Given the description of an element on the screen output the (x, y) to click on. 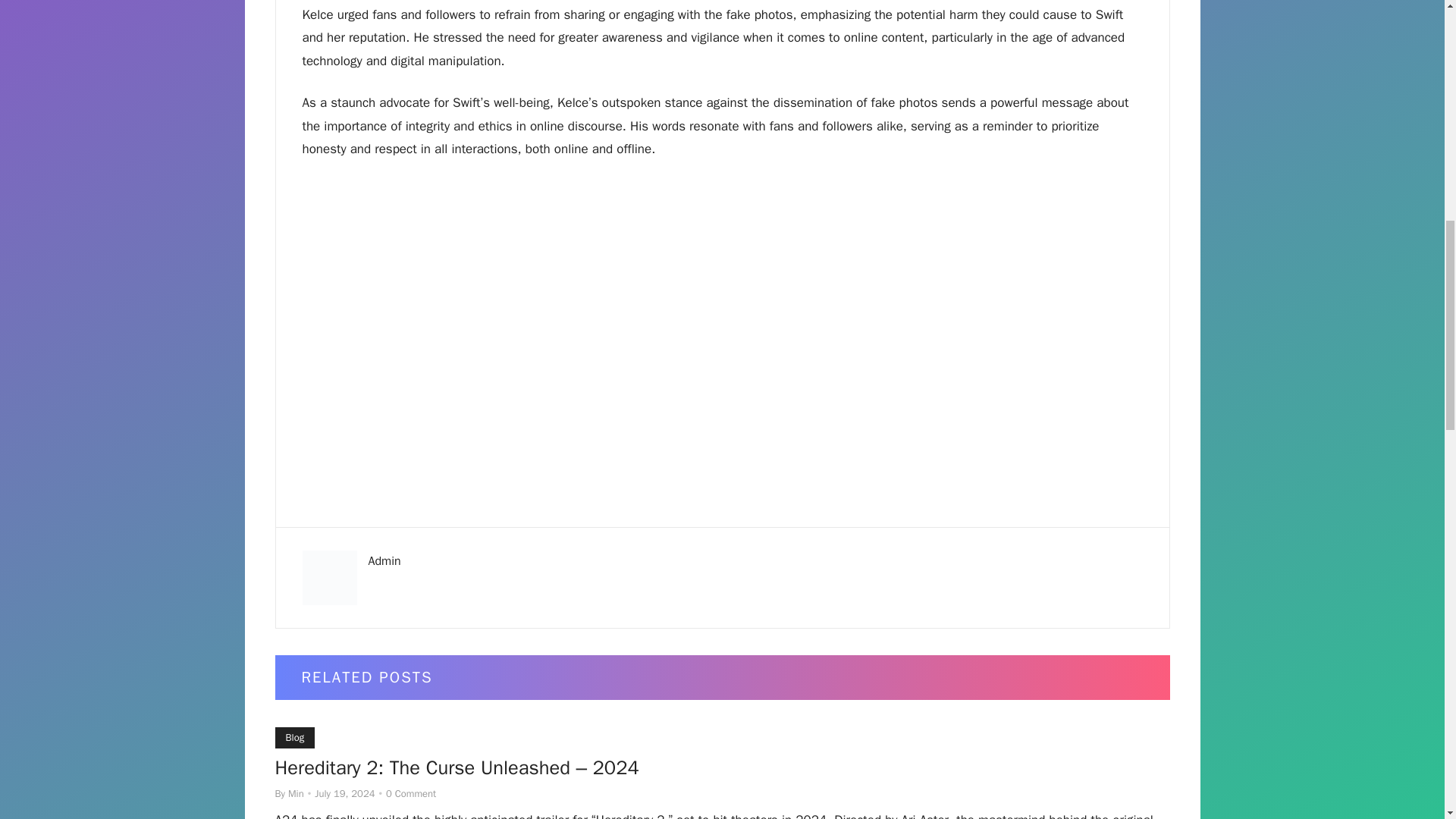
Admin (384, 560)
Blog (294, 737)
Posts by Min (296, 793)
0 Comment (410, 793)
Min (296, 793)
